Given the description of an element on the screen output the (x, y) to click on. 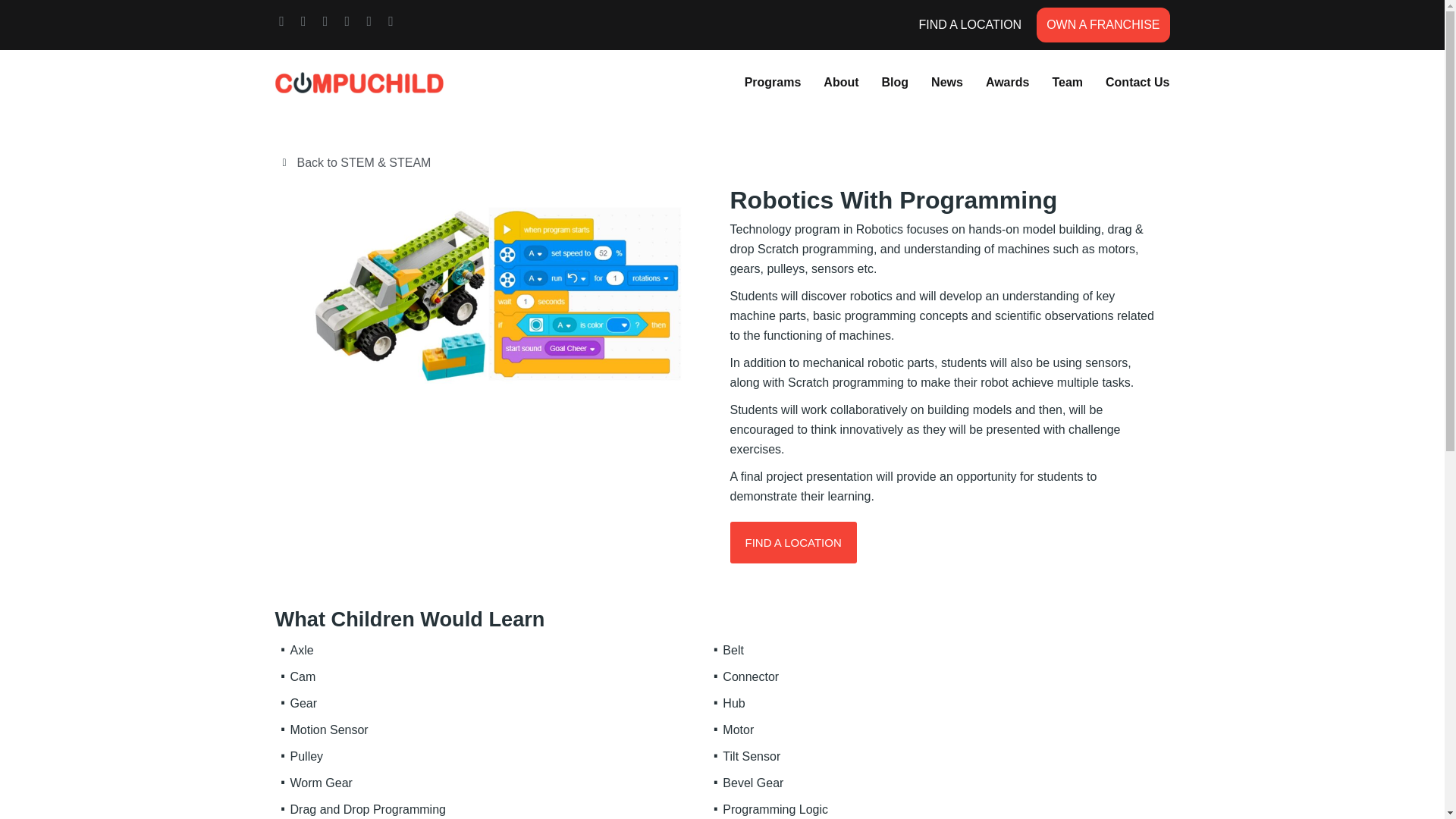
Programs (773, 82)
About (841, 82)
Contact Us (1137, 82)
News (946, 82)
Awards (1007, 82)
FIND A LOCATION (970, 25)
OWN A FRANCHISE (1102, 24)
Team (1067, 82)
Blog (895, 82)
